Given the description of an element on the screen output the (x, y) to click on. 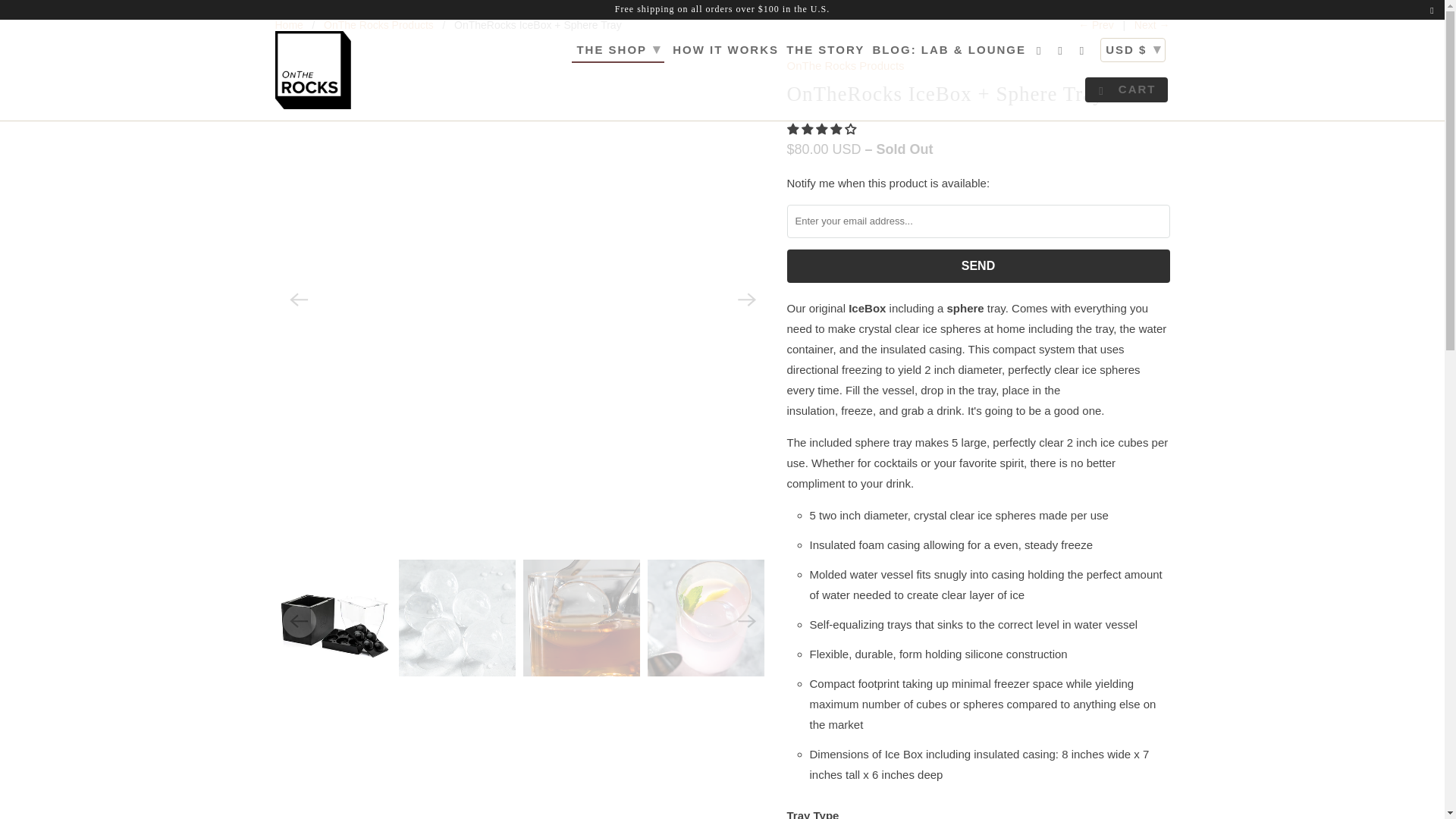
OnTheRocks (288, 24)
OnThe Rocks Products (378, 24)
Send (978, 265)
